Given the description of an element on the screen output the (x, y) to click on. 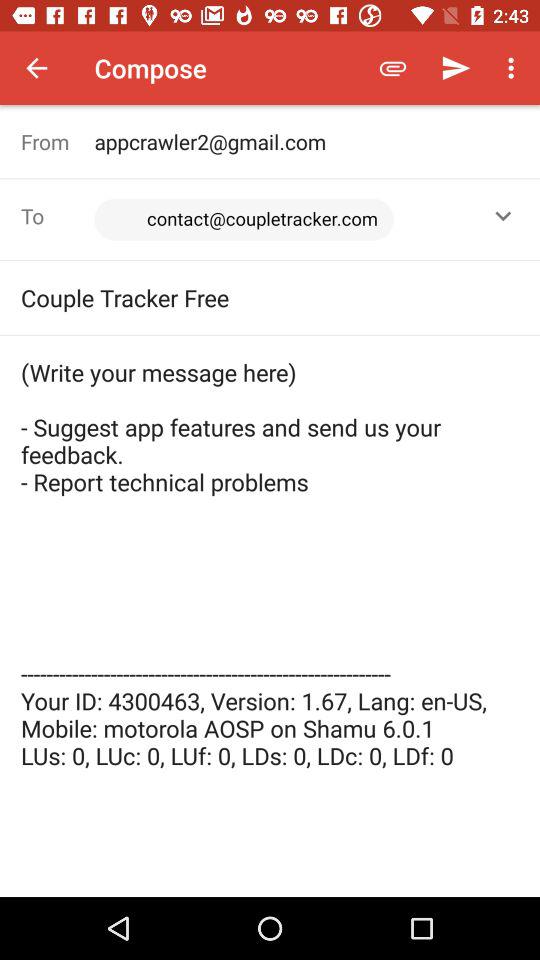
launch from icon (57, 141)
